Given the description of an element on the screen output the (x, y) to click on. 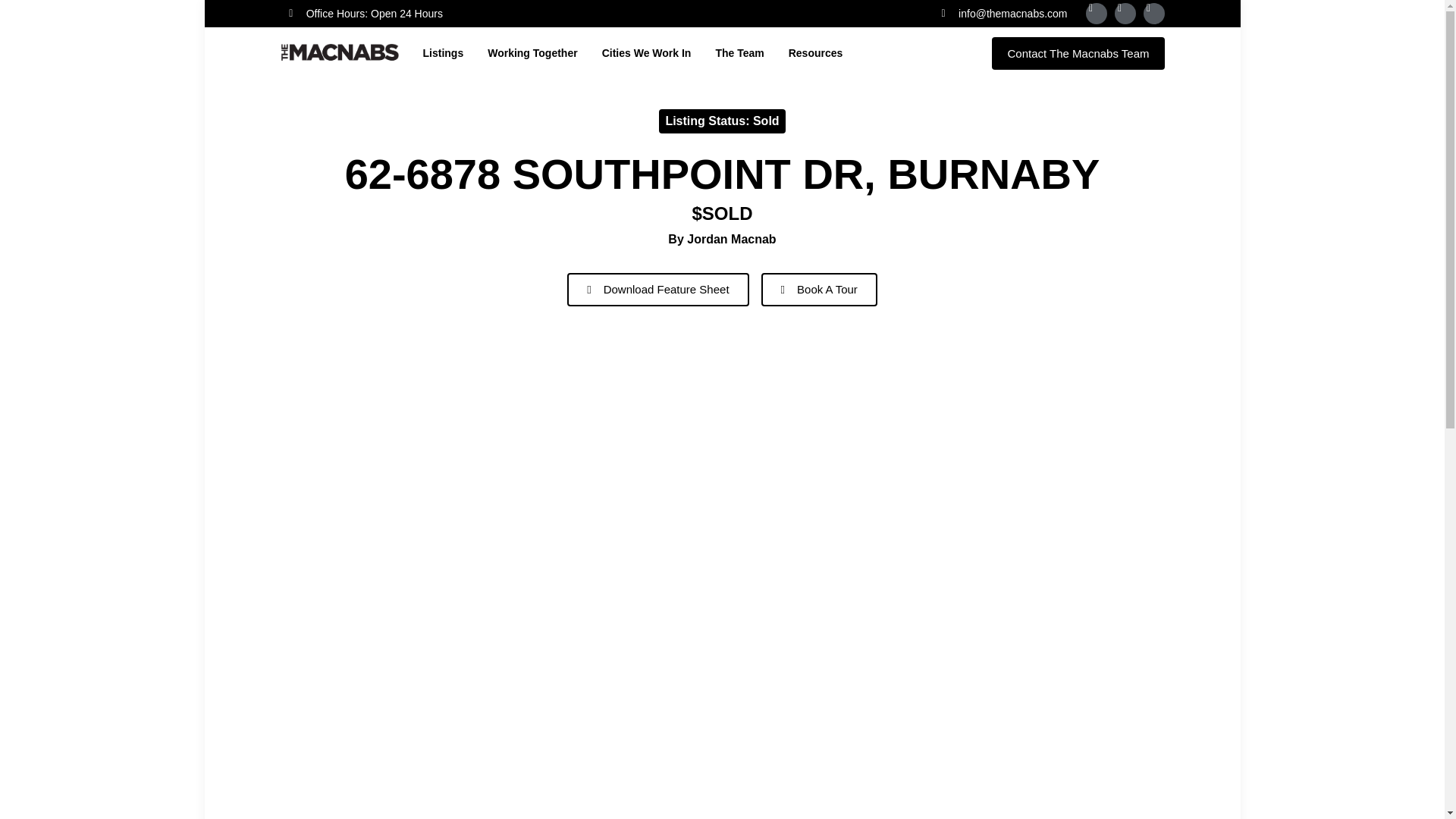
Cities We Work In (646, 52)
Working Together (531, 52)
Listings (443, 52)
